Given the description of an element on the screen output the (x, y) to click on. 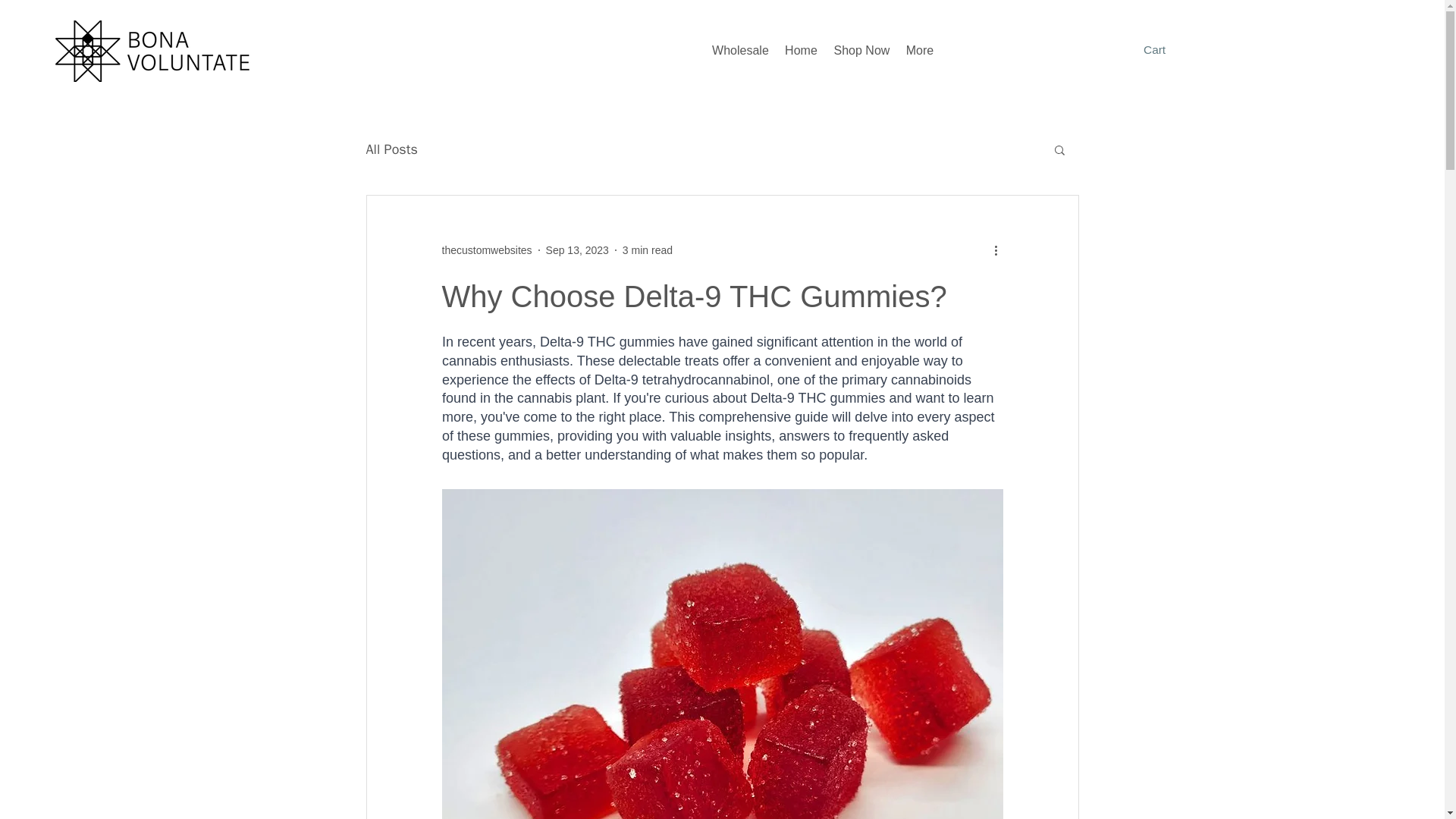
Shop Now (861, 50)
Wholesale (740, 50)
Home (800, 50)
3 min read (647, 250)
Cart (1164, 49)
thecustomwebsites (486, 250)
Sep 13, 2023 (577, 250)
All Posts (390, 149)
thecustomwebsites (486, 250)
Cart (1164, 49)
